Given the description of an element on the screen output the (x, y) to click on. 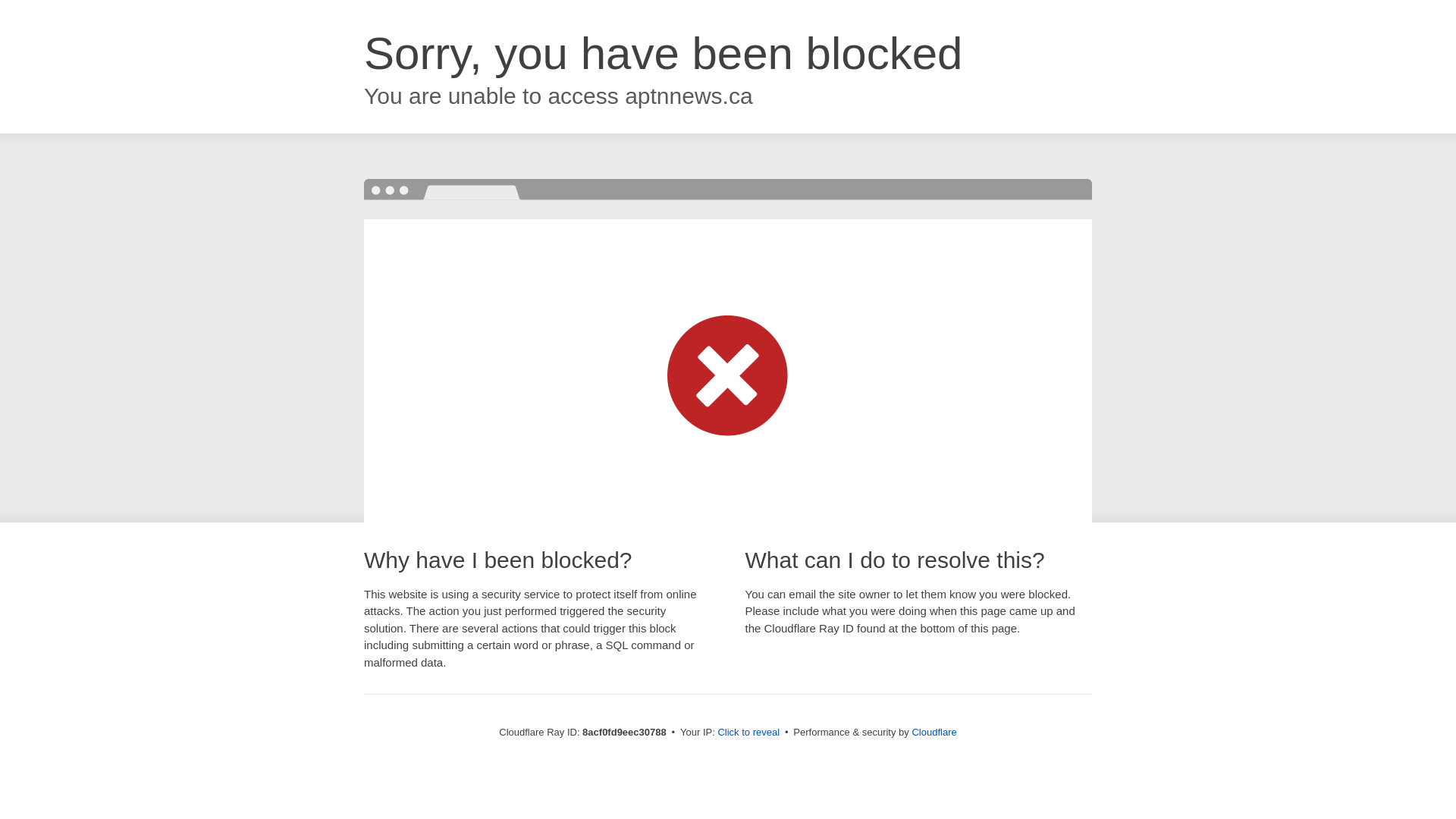
Click to reveal (747, 732)
Cloudflare (933, 731)
